Given the description of an element on the screen output the (x, y) to click on. 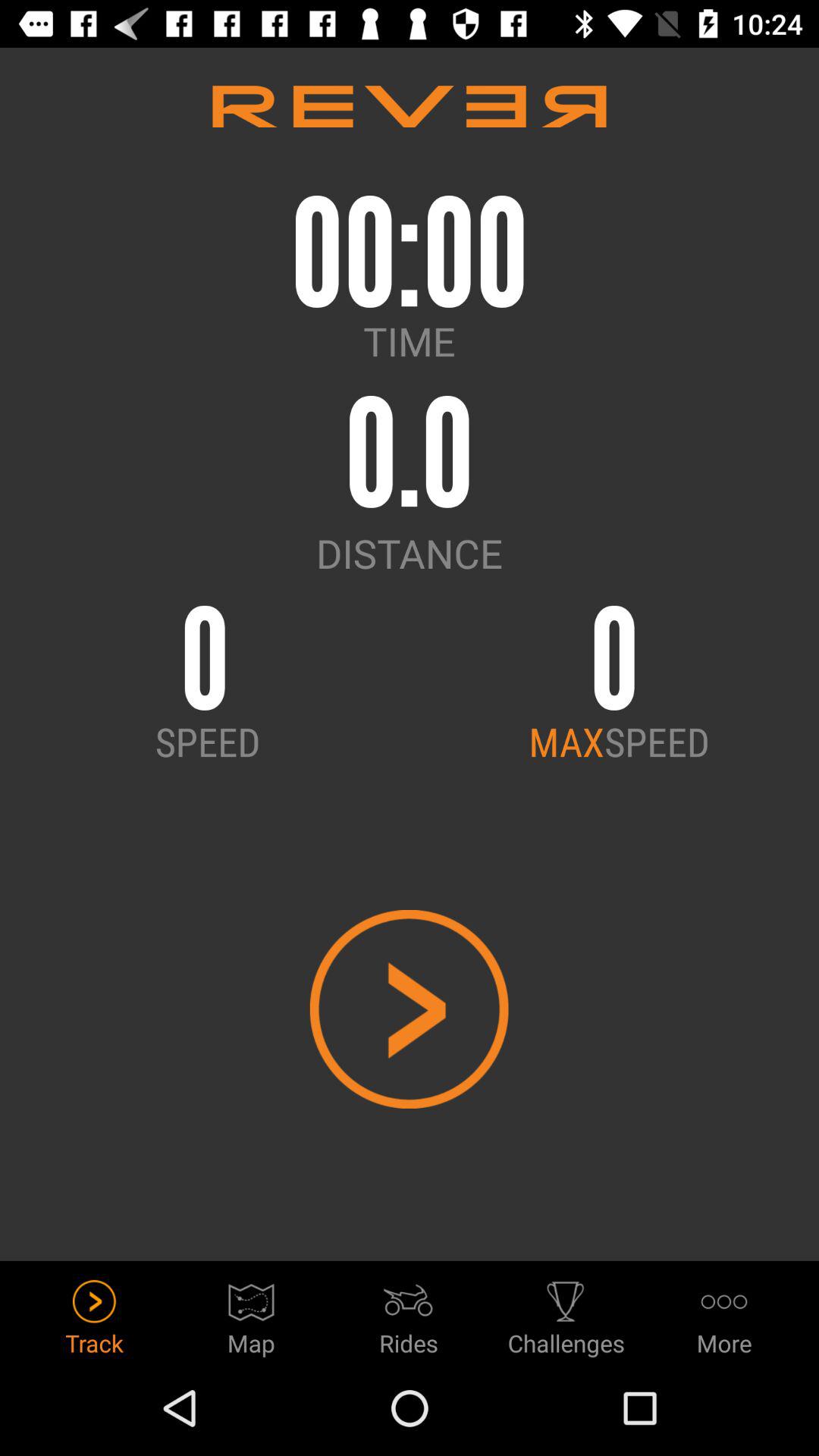
turn off icon to the right of the map icon (408, 1313)
